Given the description of an element on the screen output the (x, y) to click on. 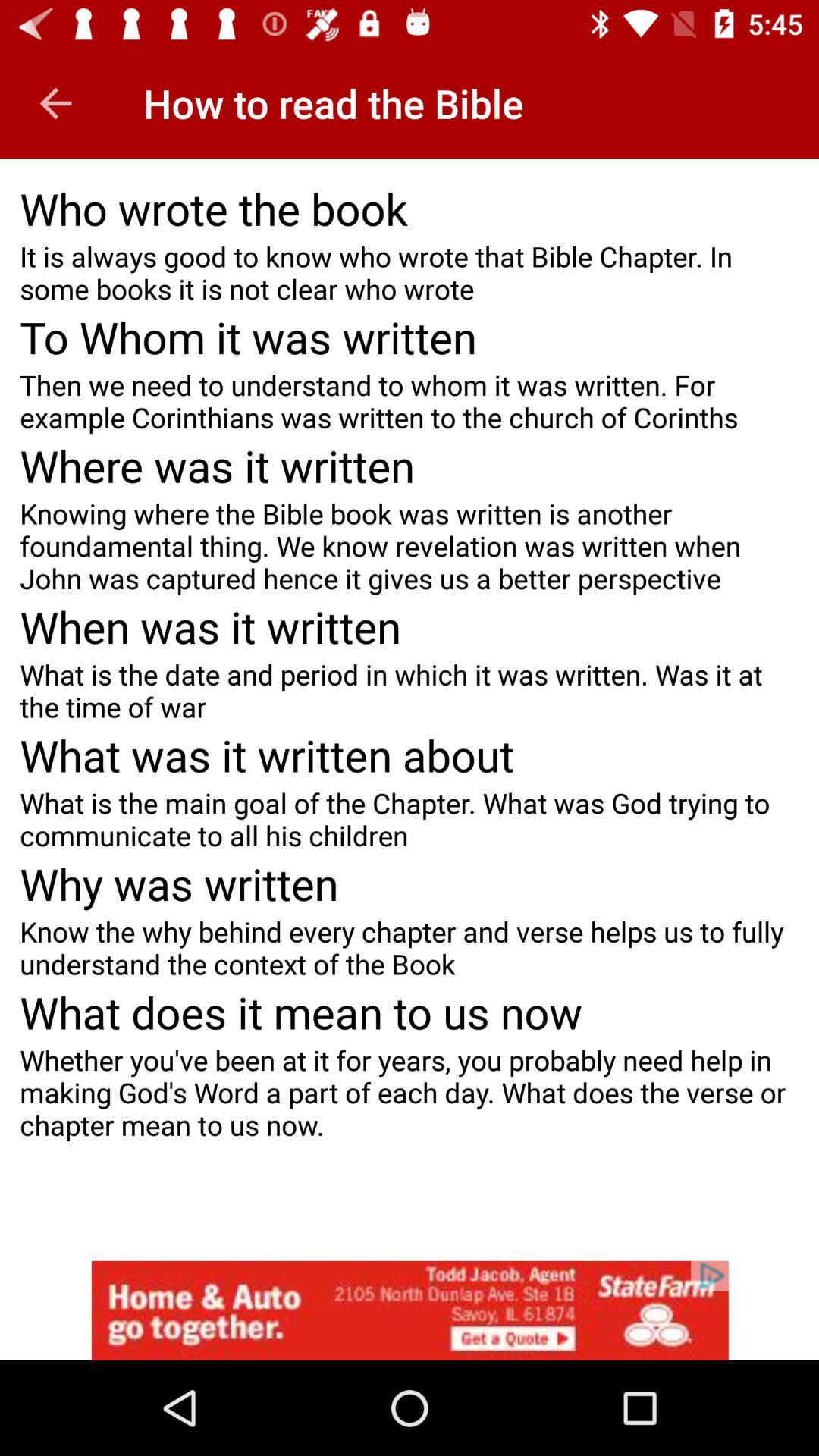
open an advertisements (409, 1310)
